Given the description of an element on the screen output the (x, y) to click on. 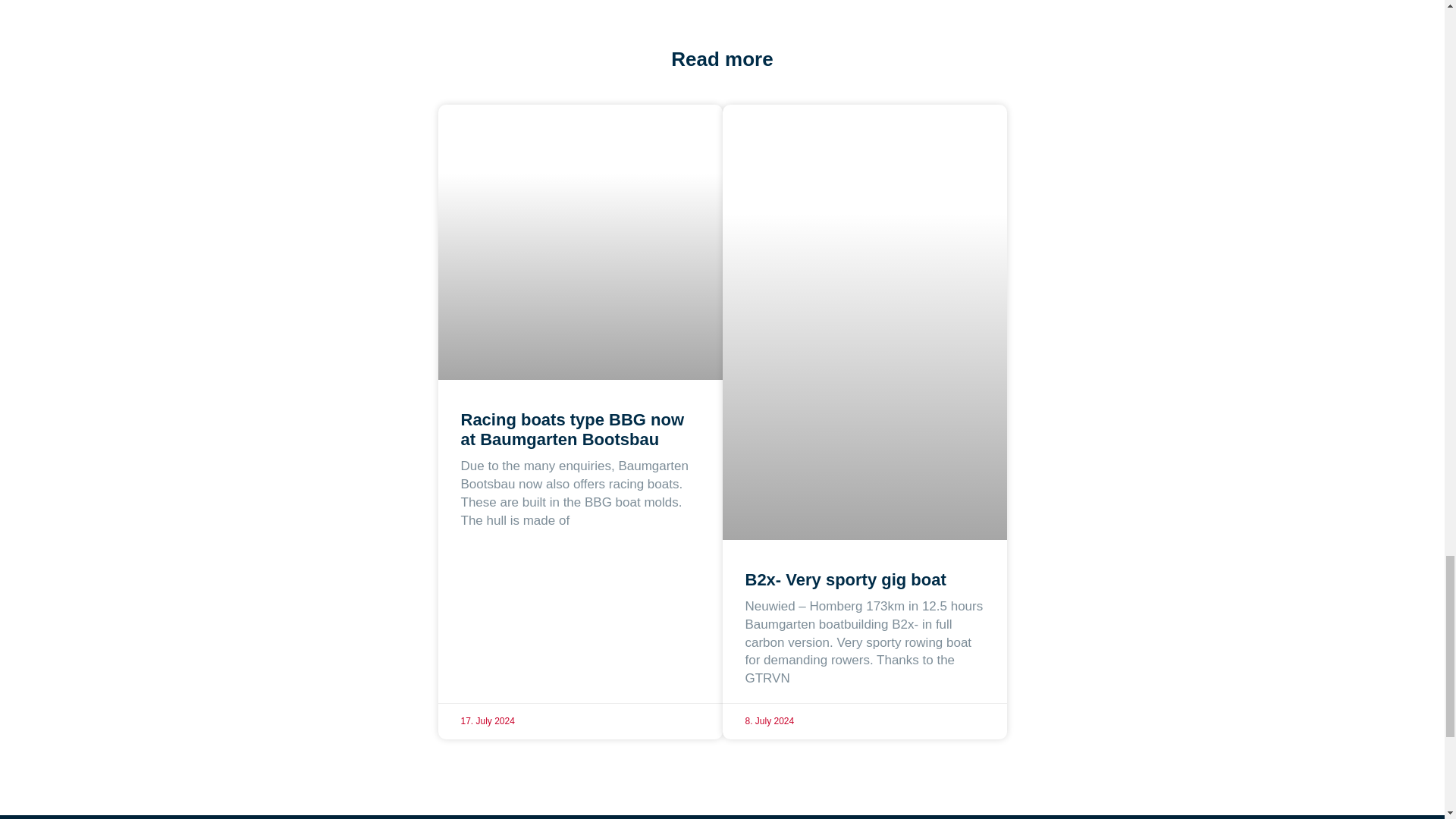
B2x- Very sporty gig boat (844, 579)
Racing boats type BBG now at Baumgarten Bootsbau (572, 429)
